Given the description of an element on the screen output the (x, y) to click on. 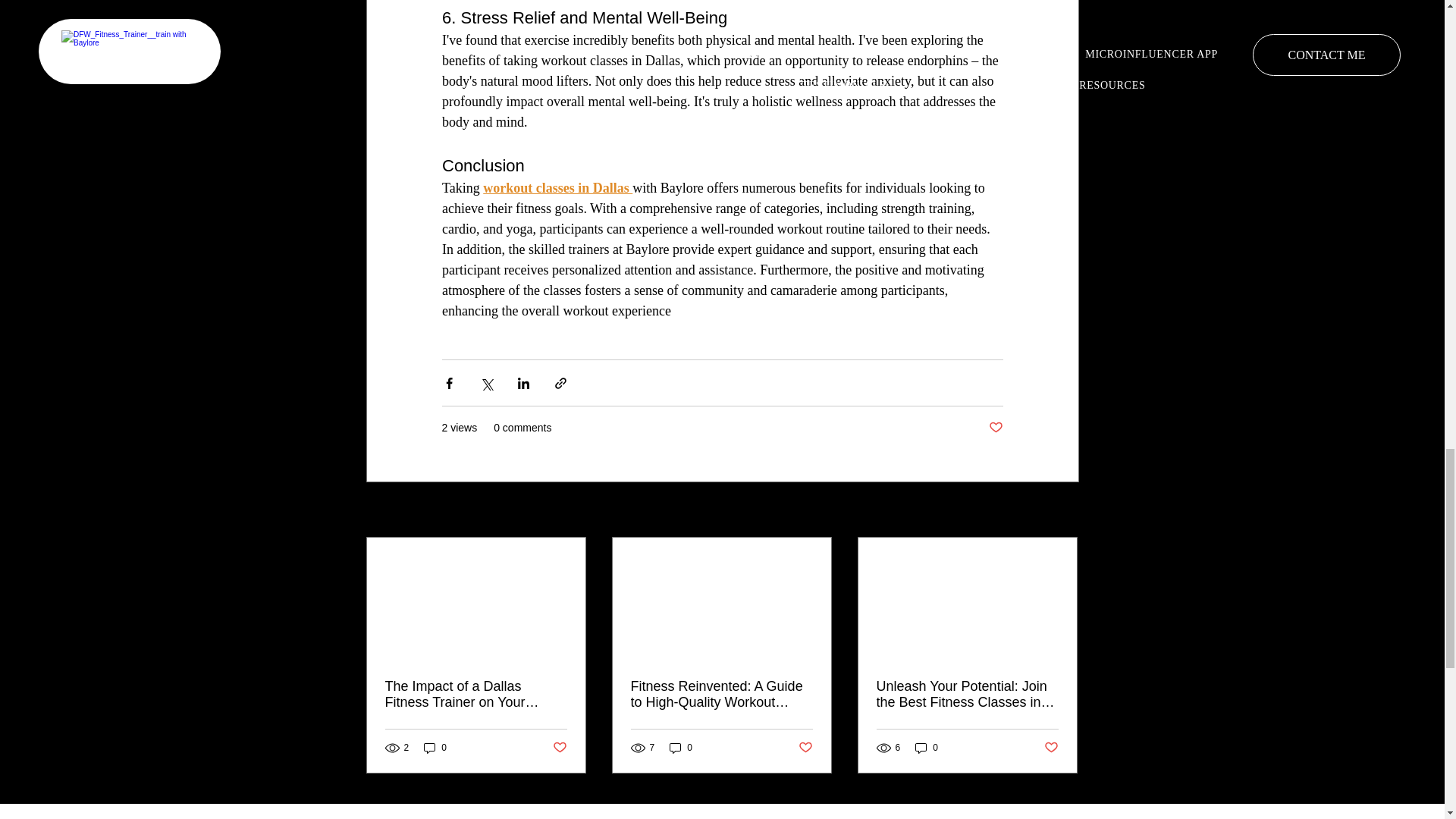
The Impact of a Dallas Fitness Trainer on Your Health (476, 694)
Post not marked as liked (995, 427)
0 (681, 747)
0 (435, 747)
Post not marked as liked (1050, 747)
workout classes in Dallas  (557, 187)
See All (1061, 510)
0 (926, 747)
